Given the description of an element on the screen output the (x, y) to click on. 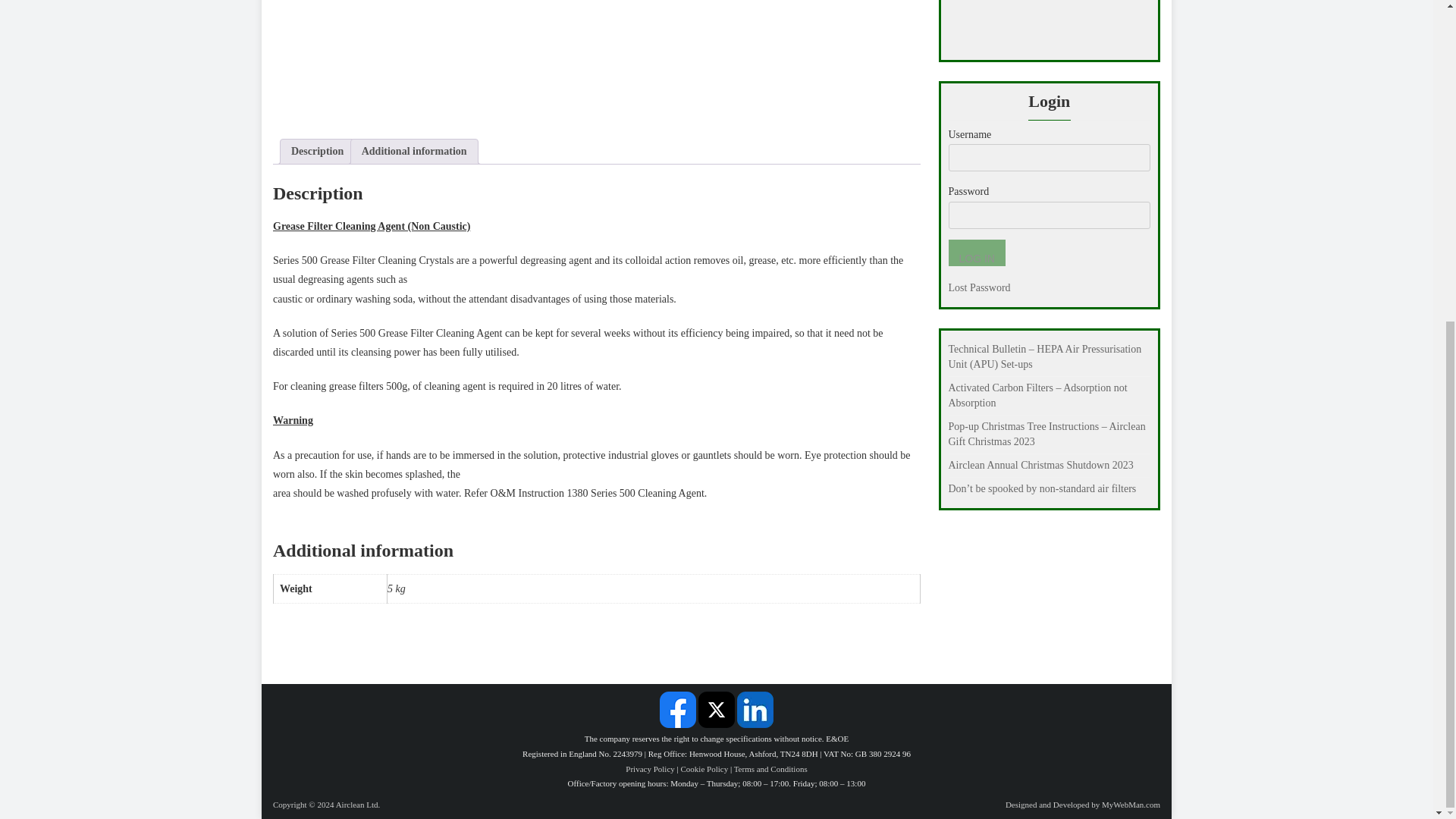
Log In (975, 252)
